Given the description of an element on the screen output the (x, y) to click on. 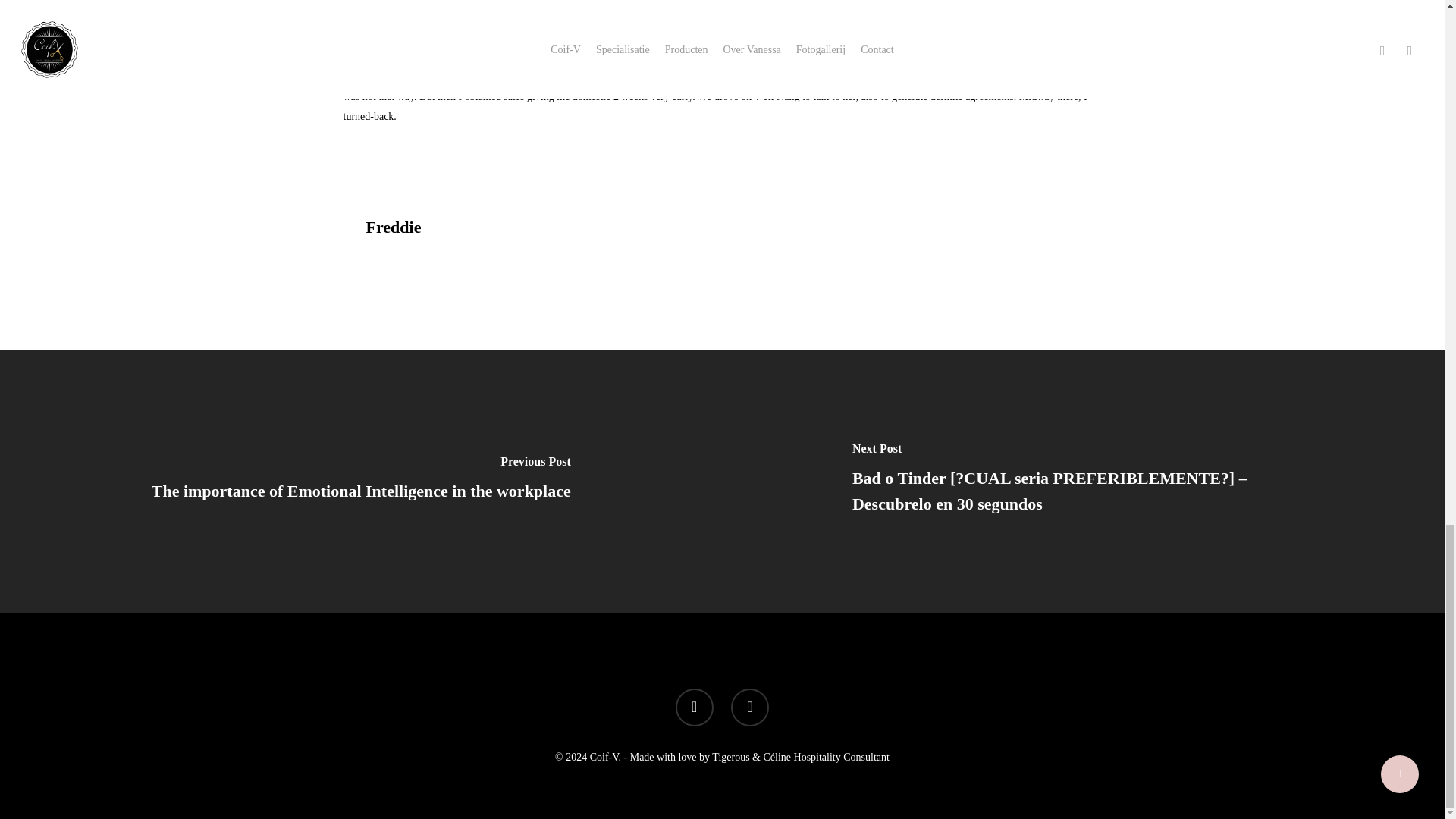
Freddie (392, 226)
uniforme rencontrer gratuit (531, 76)
